Given the description of an element on the screen output the (x, y) to click on. 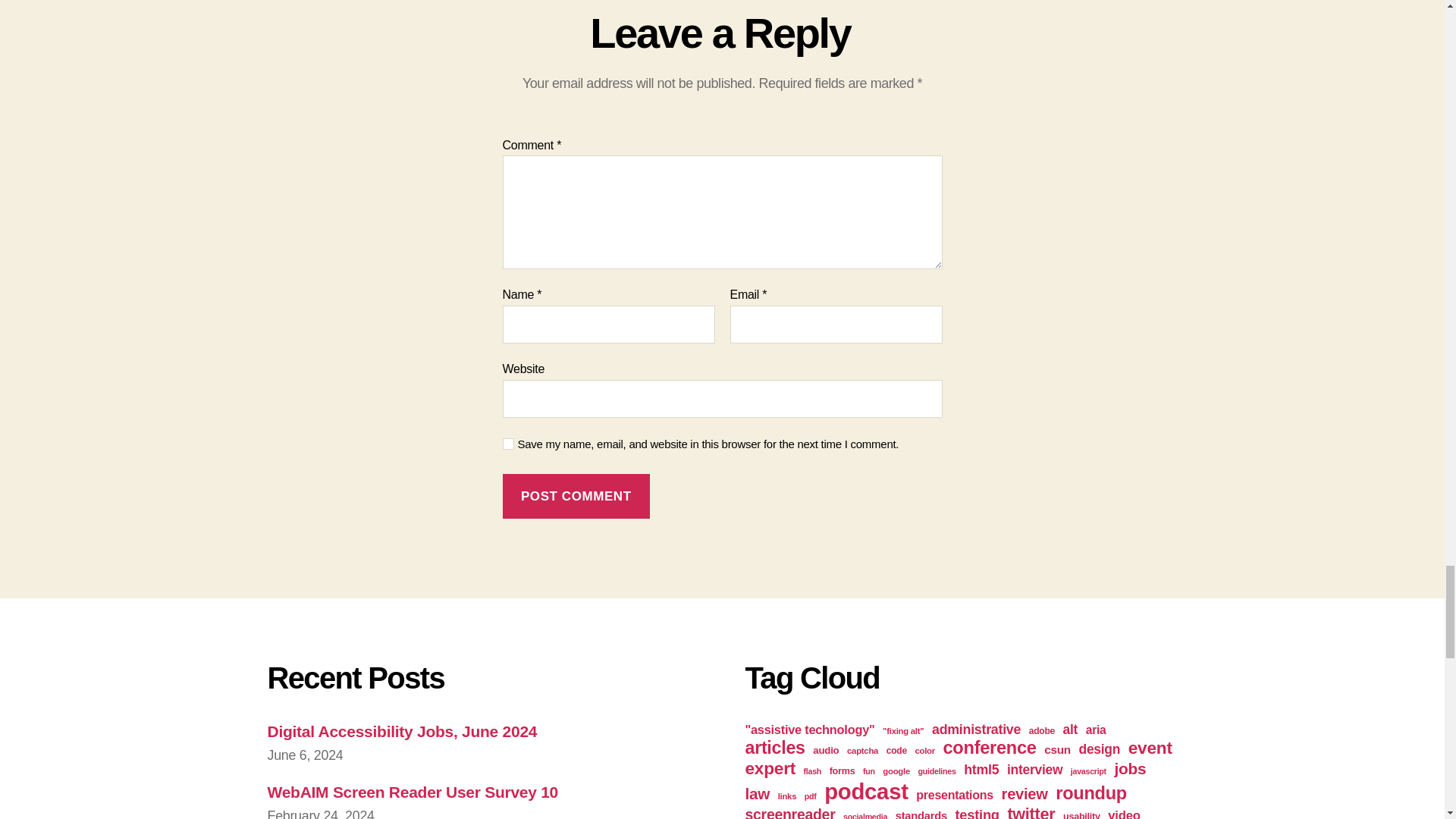
Post Comment (575, 496)
yes (507, 443)
